Given the description of an element on the screen output the (x, y) to click on. 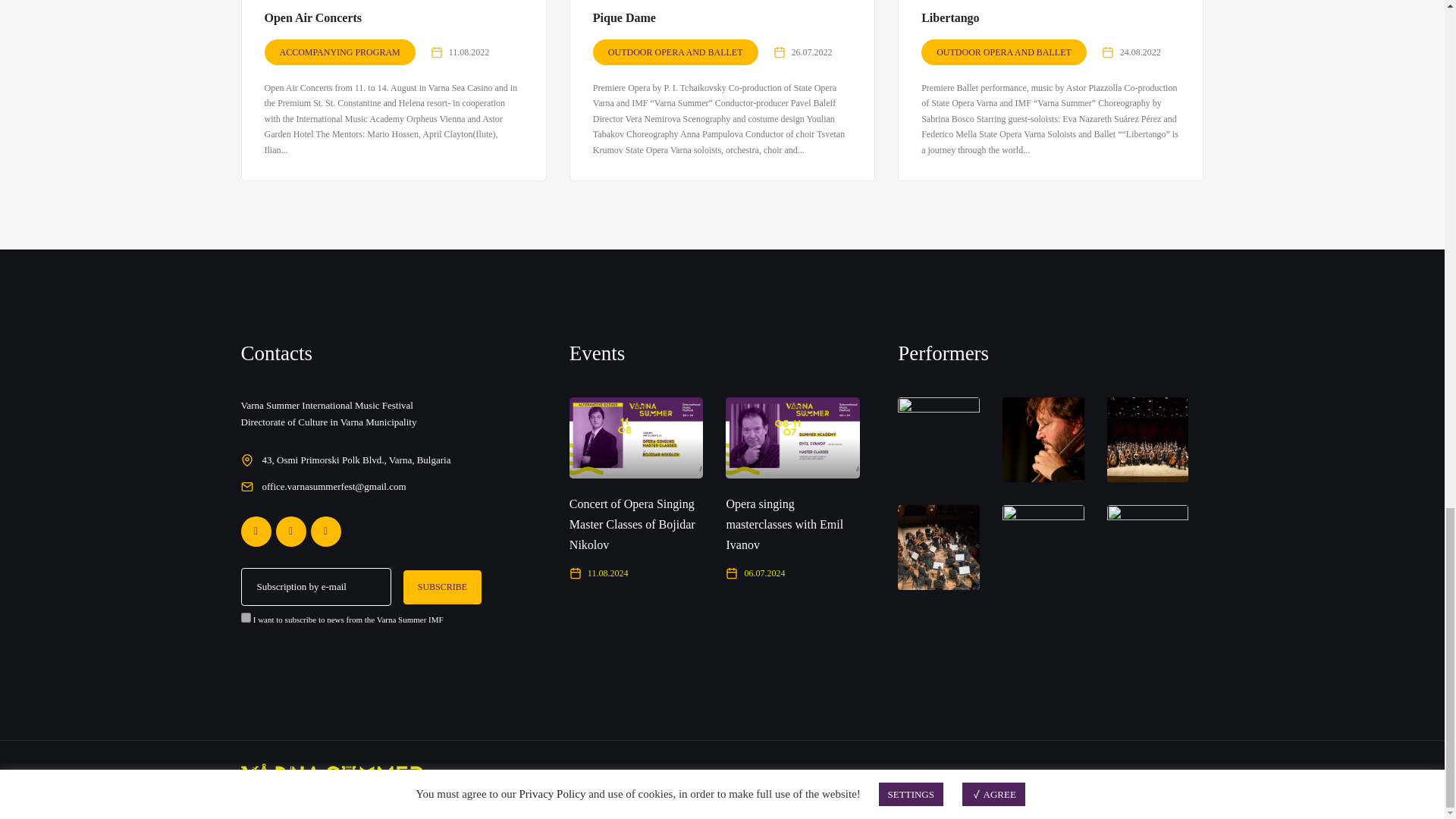
Subscribe (442, 587)
subscribe (245, 617)
